Given the description of an element on the screen output the (x, y) to click on. 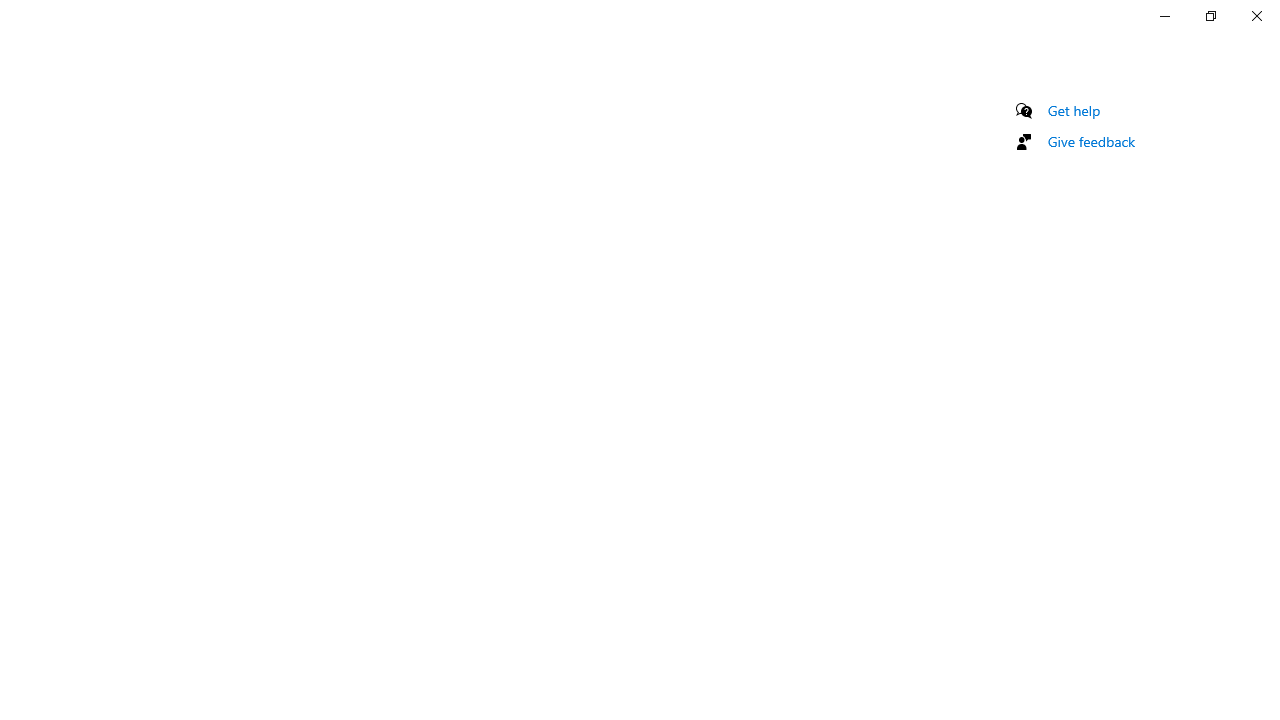
Restore Settings (1210, 15)
Give feedback (1091, 141)
Minimize Settings (1164, 15)
Get help (1074, 110)
Close Settings (1256, 15)
